Given the description of an element on the screen output the (x, y) to click on. 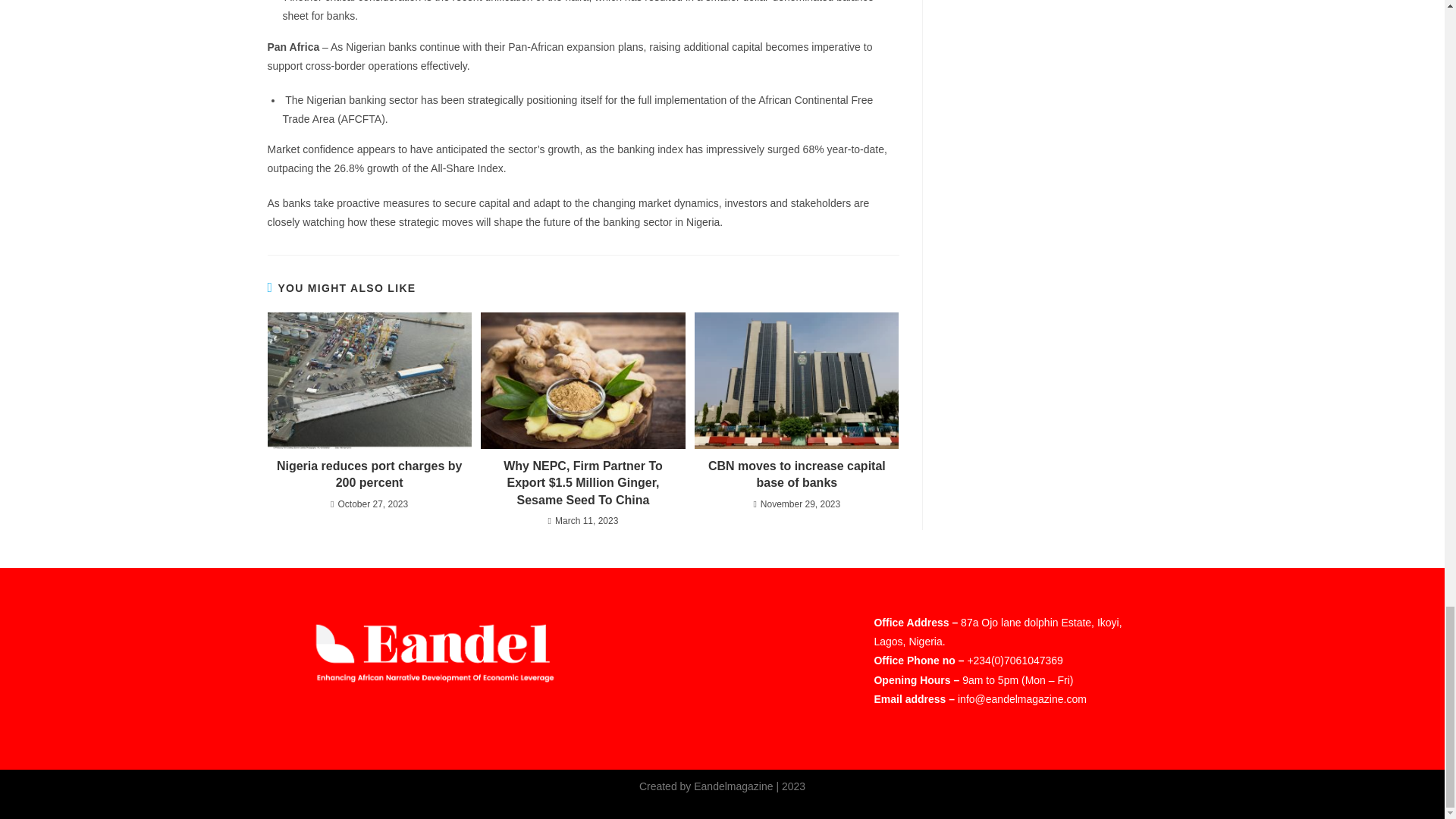
Nigeria reduces port charges by 200 percent (368, 474)
CBN moves to increase capital base of banks (796, 474)
